Given the description of an element on the screen output the (x, y) to click on. 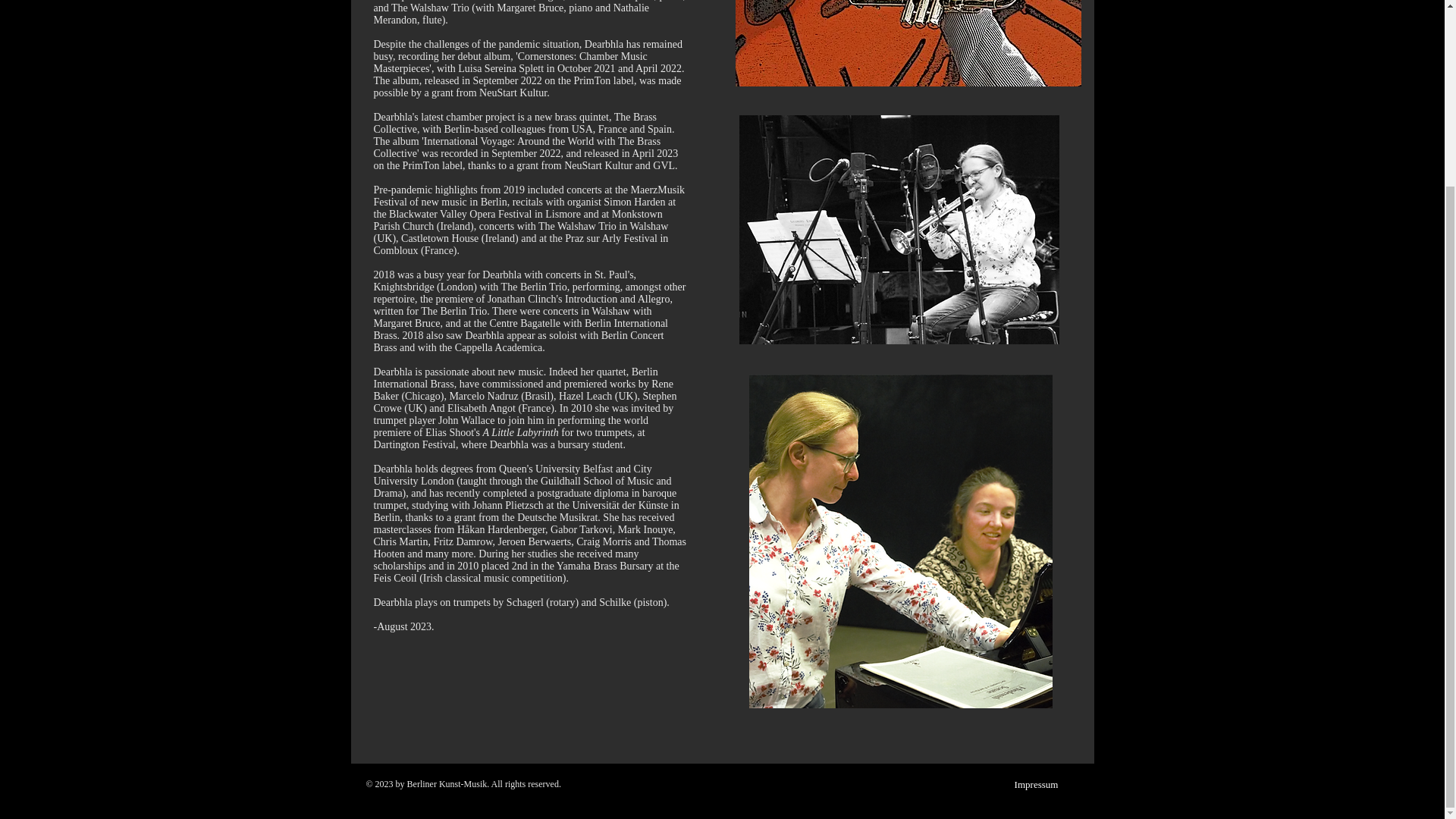
Dearbhla Nolan, Berliner Kunst-Musik (900, 541)
Dearbhla Nolan, Trumpet, Berlin (908, 43)
Dearbhla Nolan, Berliner Kunst-Musik (898, 229)
Impressum (1036, 784)
